Given the description of an element on the screen output the (x, y) to click on. 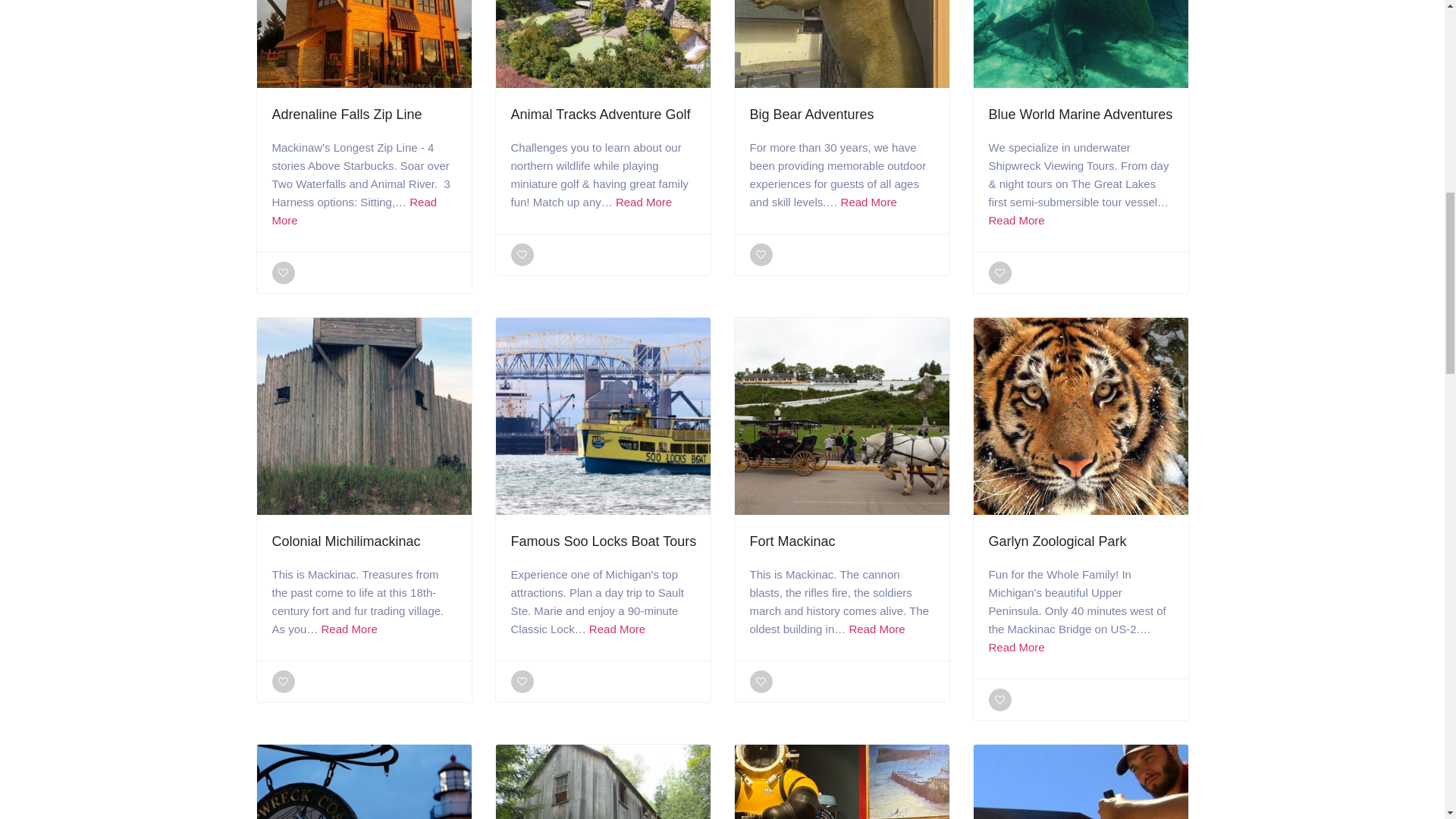
Read More (353, 210)
Adrenaline Falls Zip Line (346, 114)
